Given the description of an element on the screen output the (x, y) to click on. 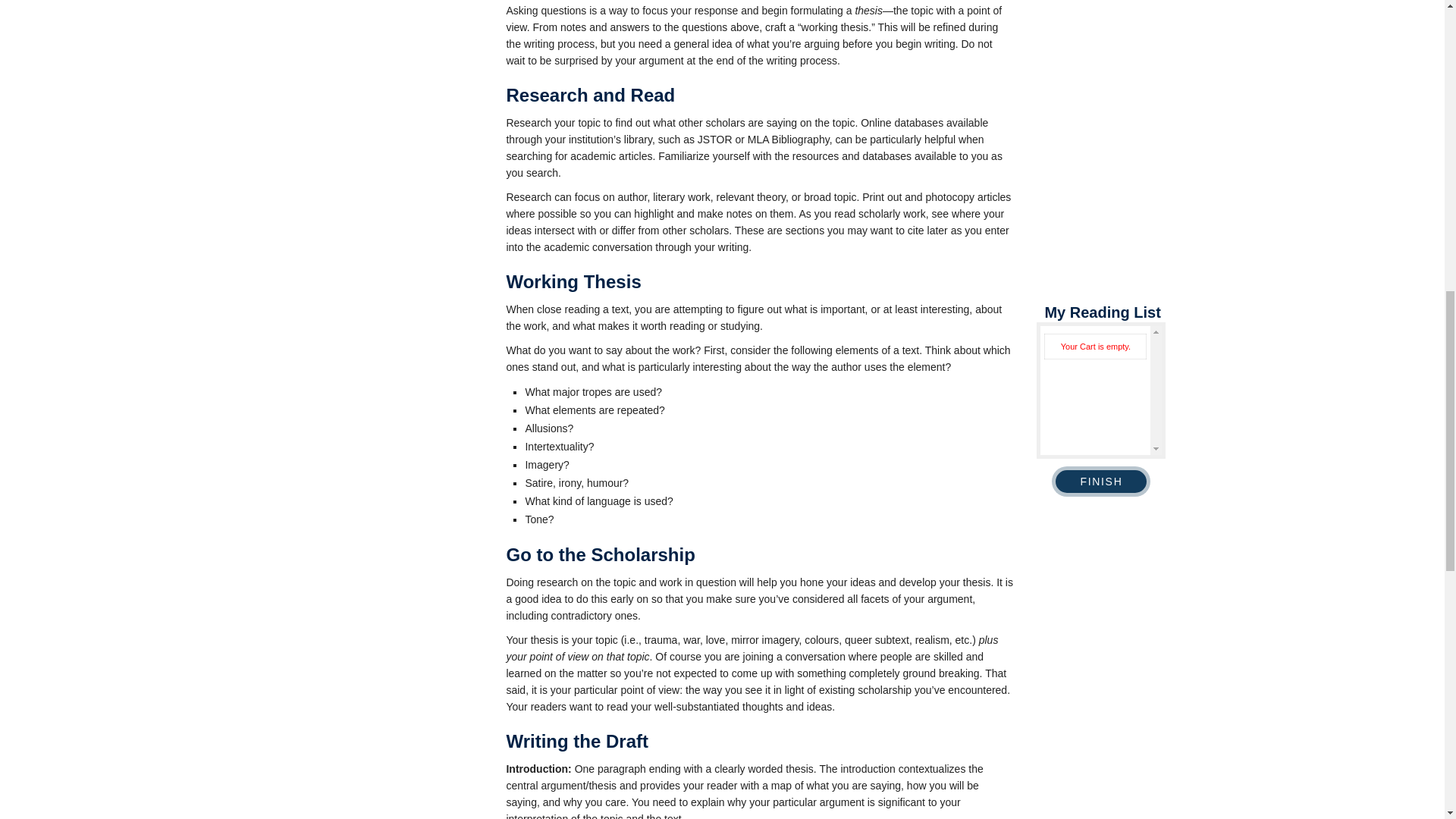
Submit (328, 297)
